Given the description of an element on the screen output the (x, y) to click on. 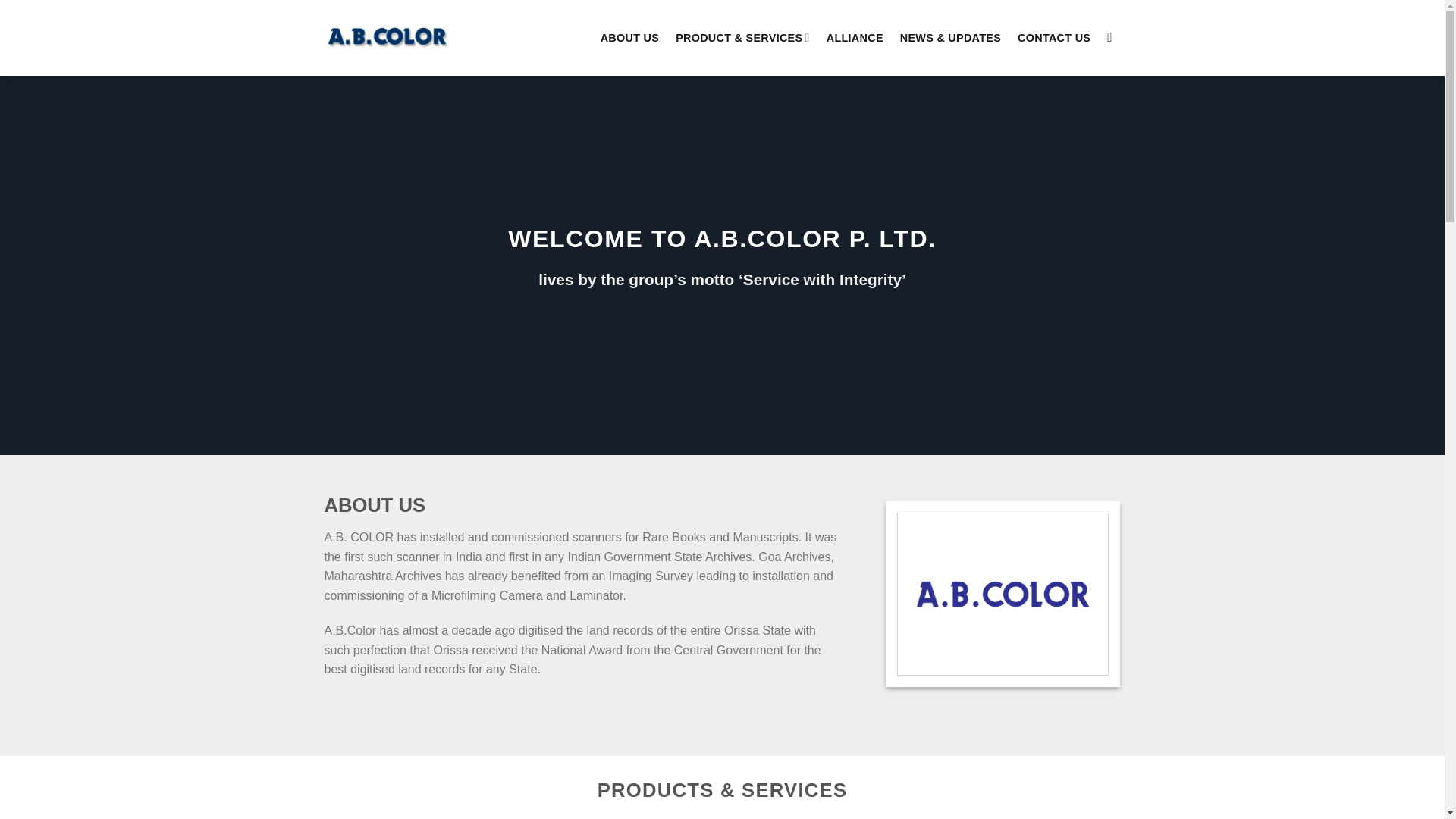
ABOUT US (629, 37)
CONTACT US (1053, 37)
ALLIANCE (855, 37)
